Given the description of an element on the screen output the (x, y) to click on. 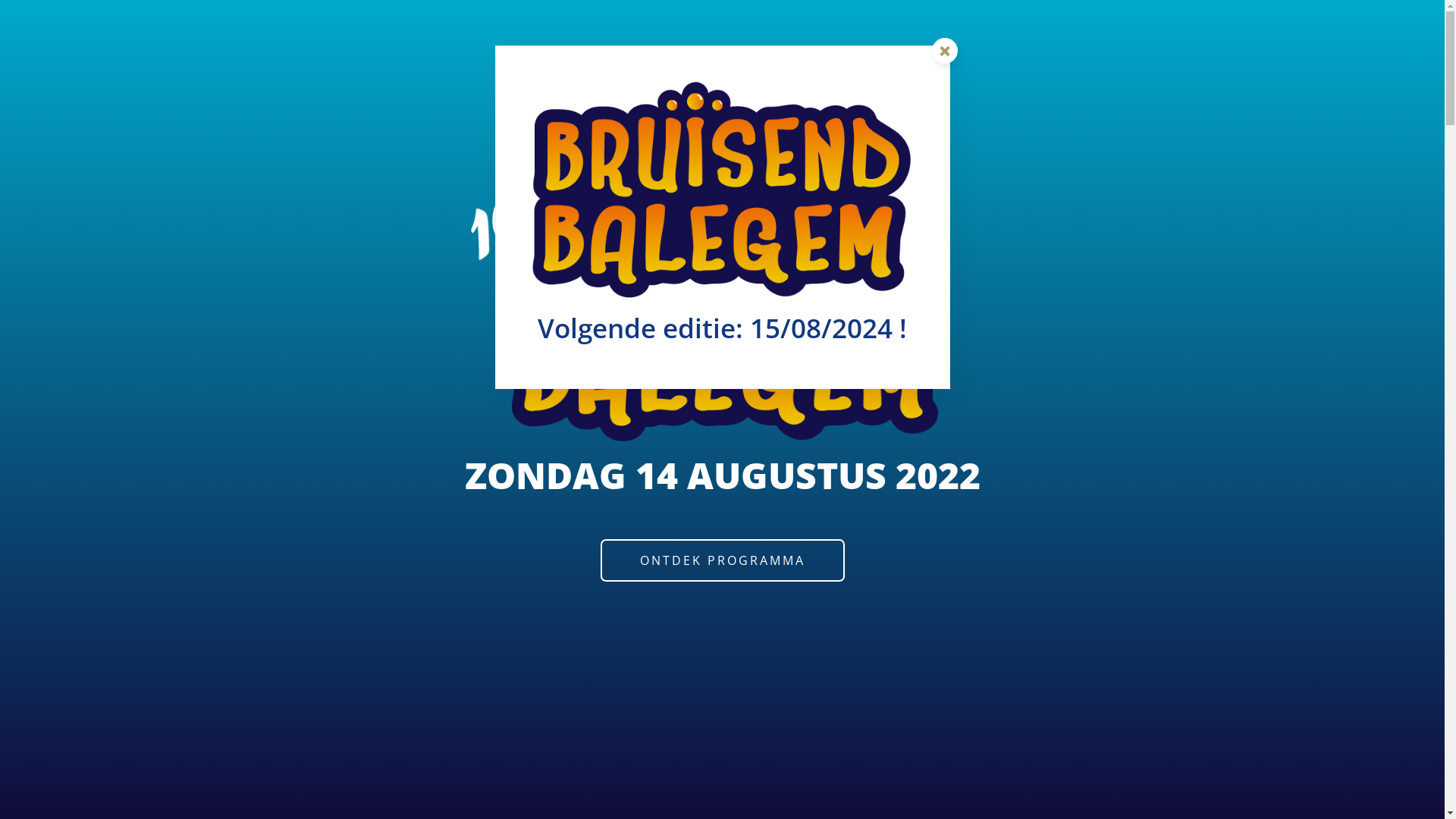
logo_bb Element type: hover (721, 309)
ONTDEK PROGRAMMA Element type: text (722, 560)
